Given the description of an element on the screen output the (x, y) to click on. 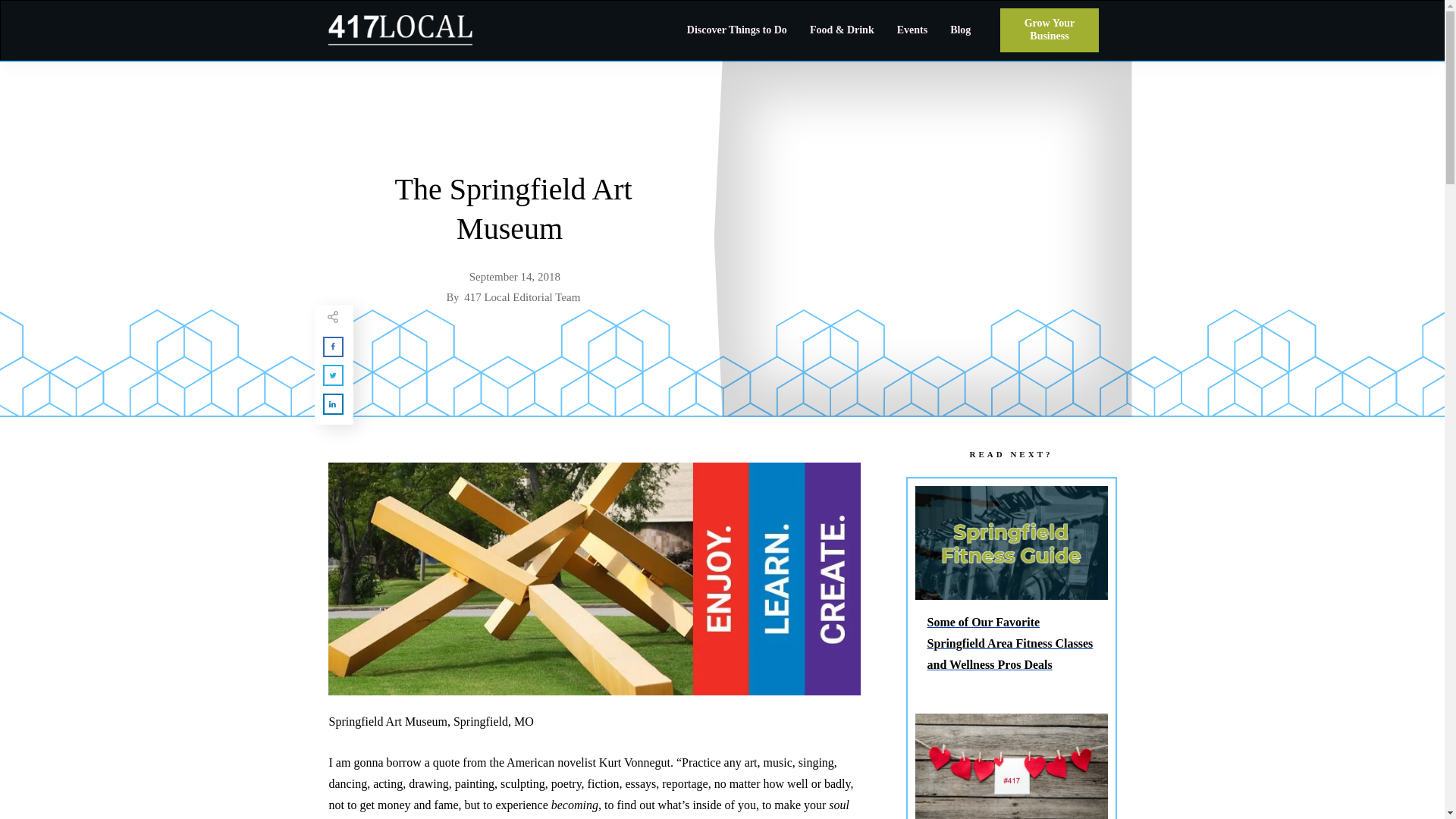
Discover Things to Do (737, 29)
Springfield Art Museum, Springfield, MO (593, 578)
Blog (960, 29)
Events (911, 29)
Grow Your Business (1048, 30)
